Given the description of an element on the screen output the (x, y) to click on. 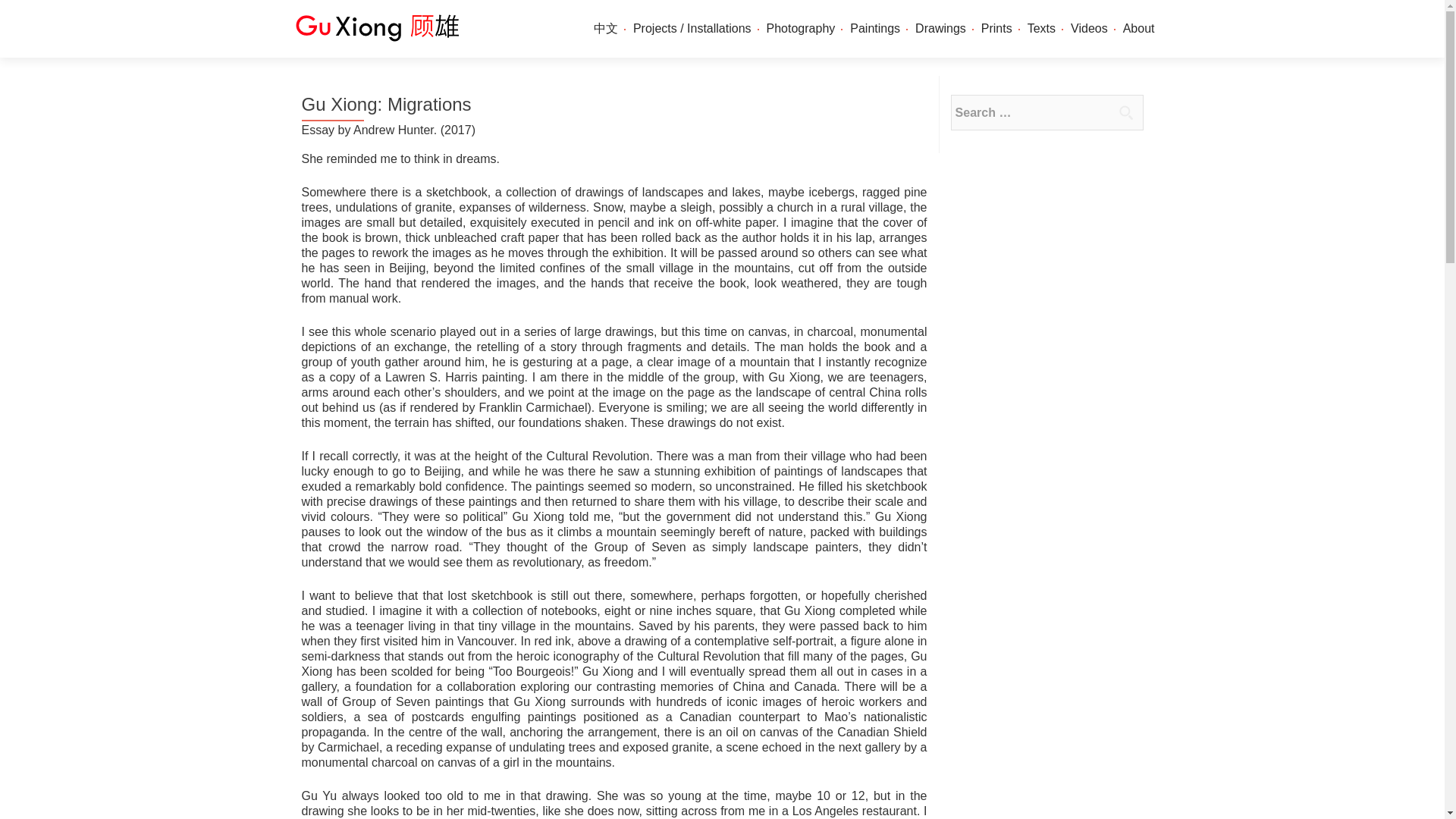
Drawings (940, 28)
Prints (996, 28)
Photography (801, 28)
Search (1125, 112)
Search (1125, 112)
About (1138, 28)
Paintings (874, 28)
Search (1125, 112)
Texts (1041, 28)
Videos (1089, 28)
